Given the description of an element on the screen output the (x, y) to click on. 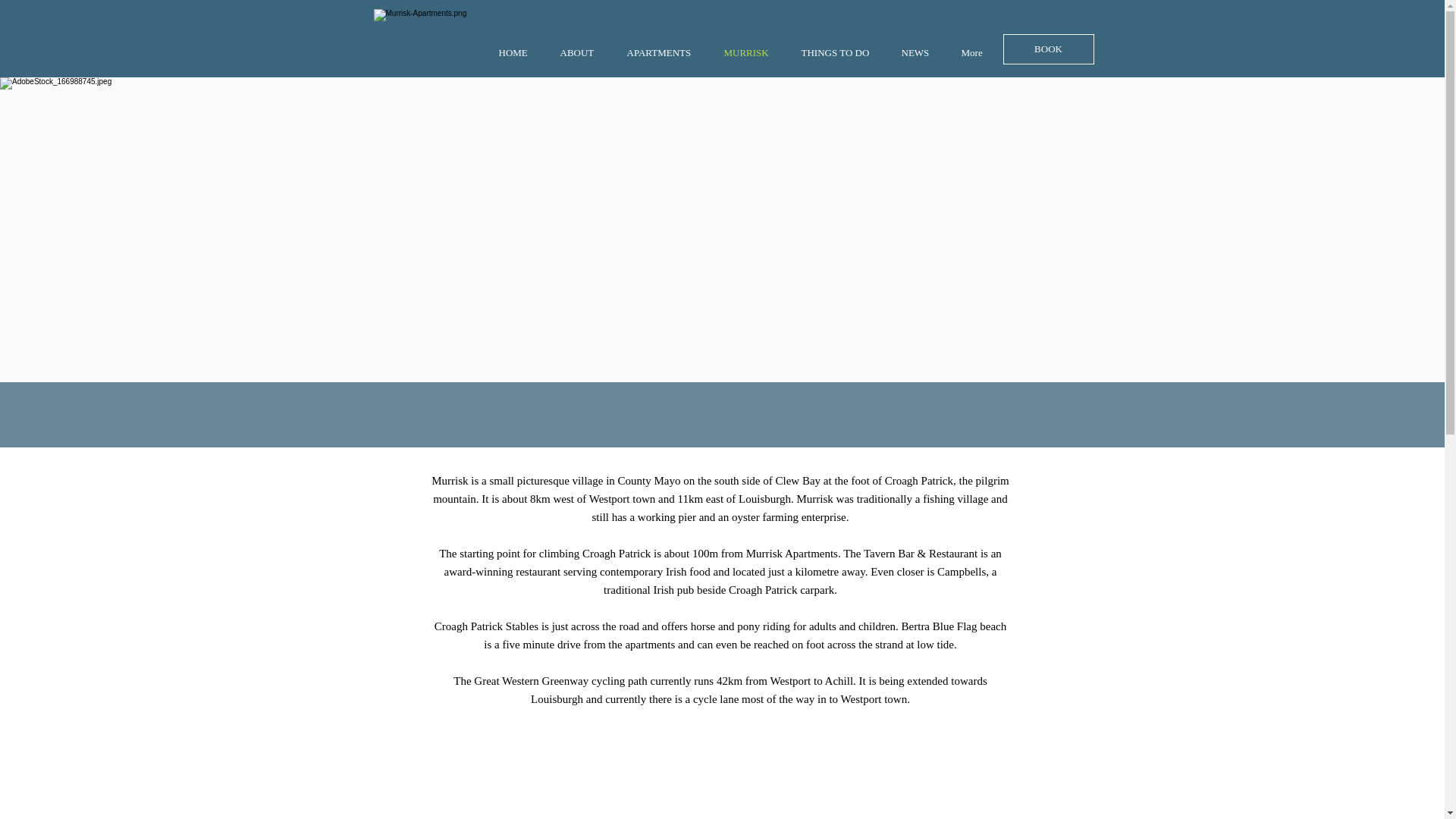
HOME (517, 53)
BOOK (1048, 49)
ABOUT (581, 53)
THINGS TO DO (839, 53)
MURRISK (751, 53)
NEWS (919, 53)
APARTMENTS (664, 53)
